Given the description of an element on the screen output the (x, y) to click on. 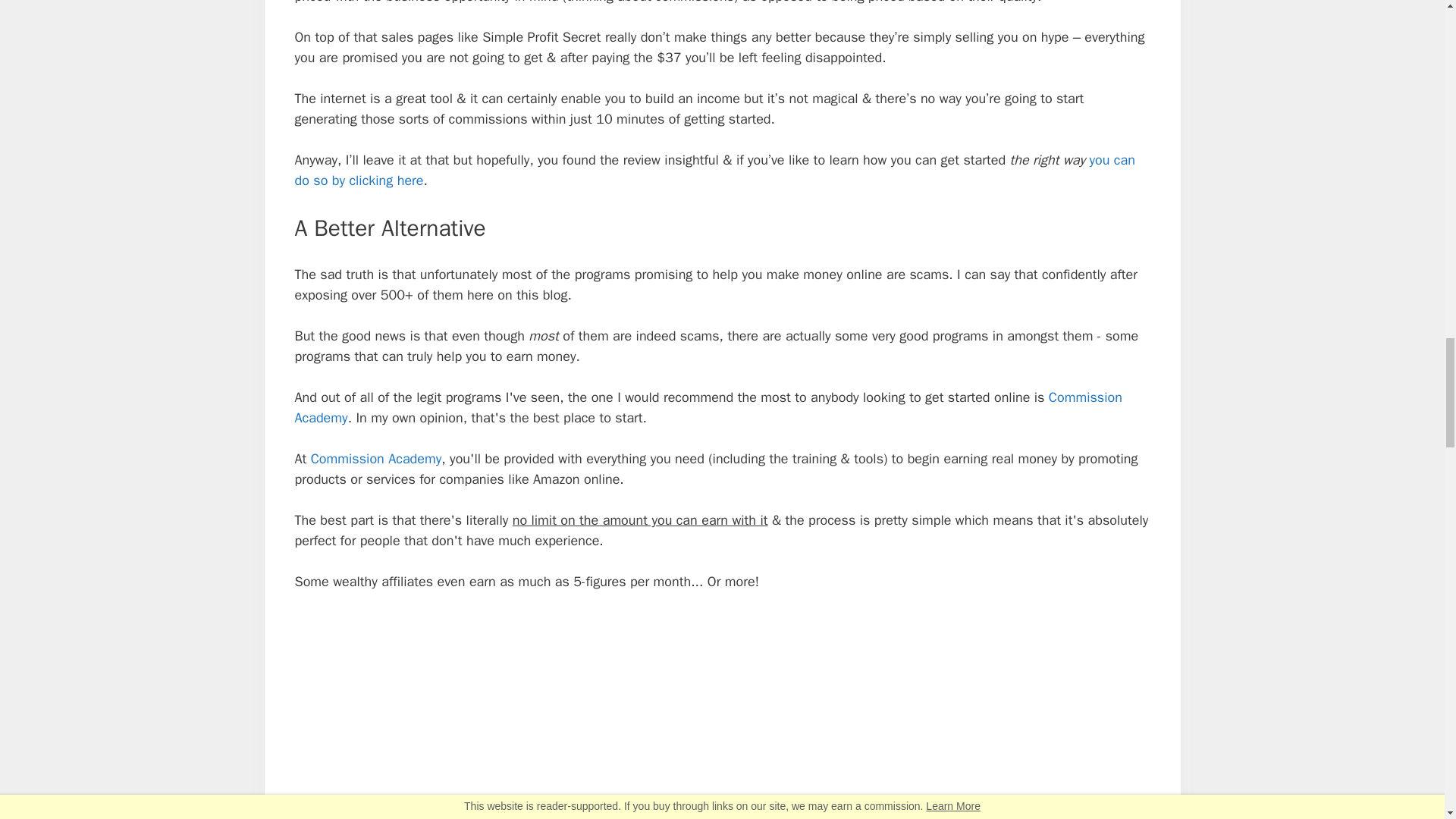
Commission Academy (707, 407)
Commission Academy (376, 458)
you can do so by clicking here (714, 170)
